Given the description of an element on the screen output the (x, y) to click on. 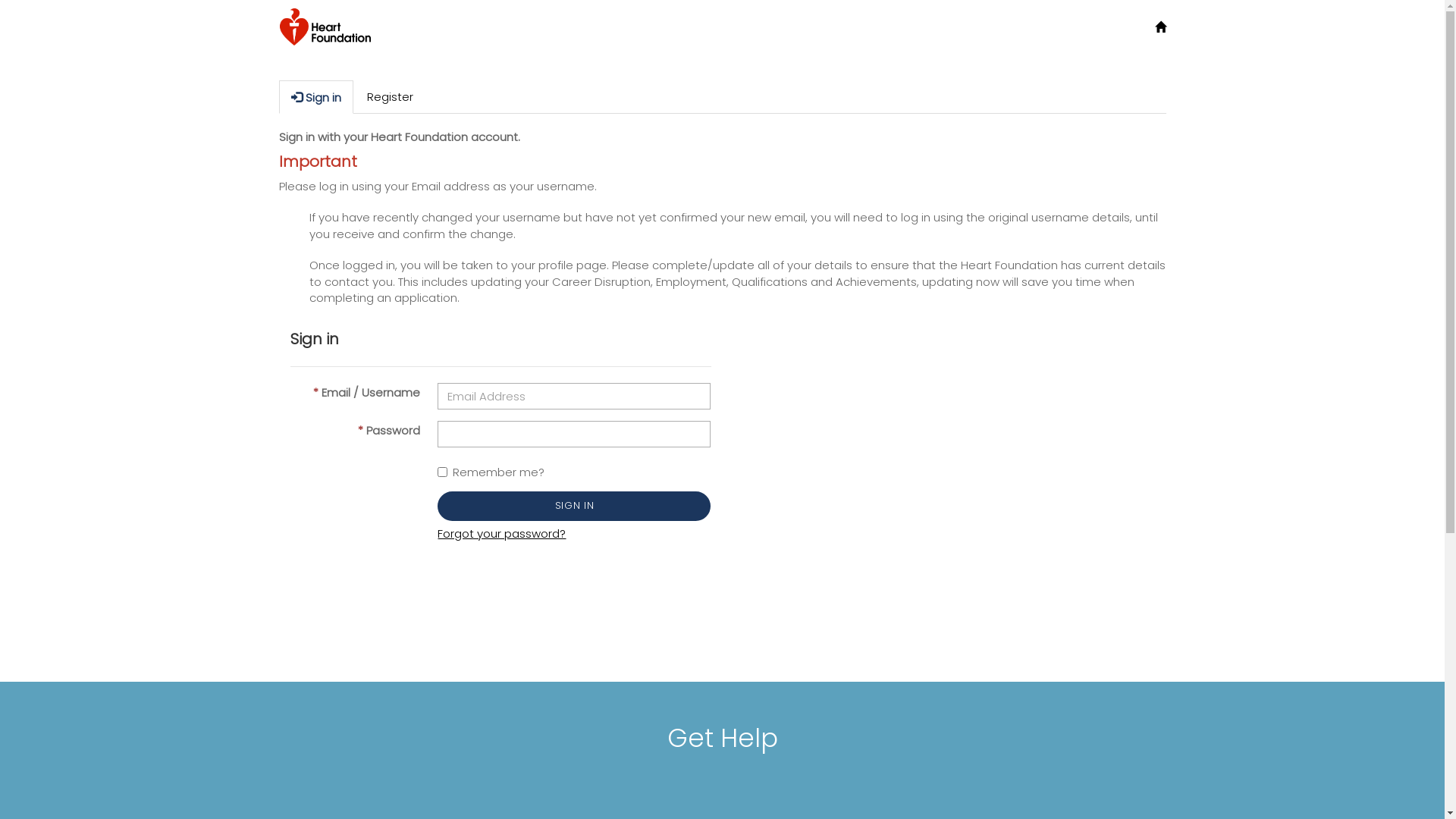
Sign in Element type: text (316, 96)
SIGN IN Element type: text (573, 505)
Forgot your password? Element type: text (501, 533)
Home Element type: hover (1160, 26)
Register Element type: text (389, 96)
